Given the description of an element on the screen output the (x, y) to click on. 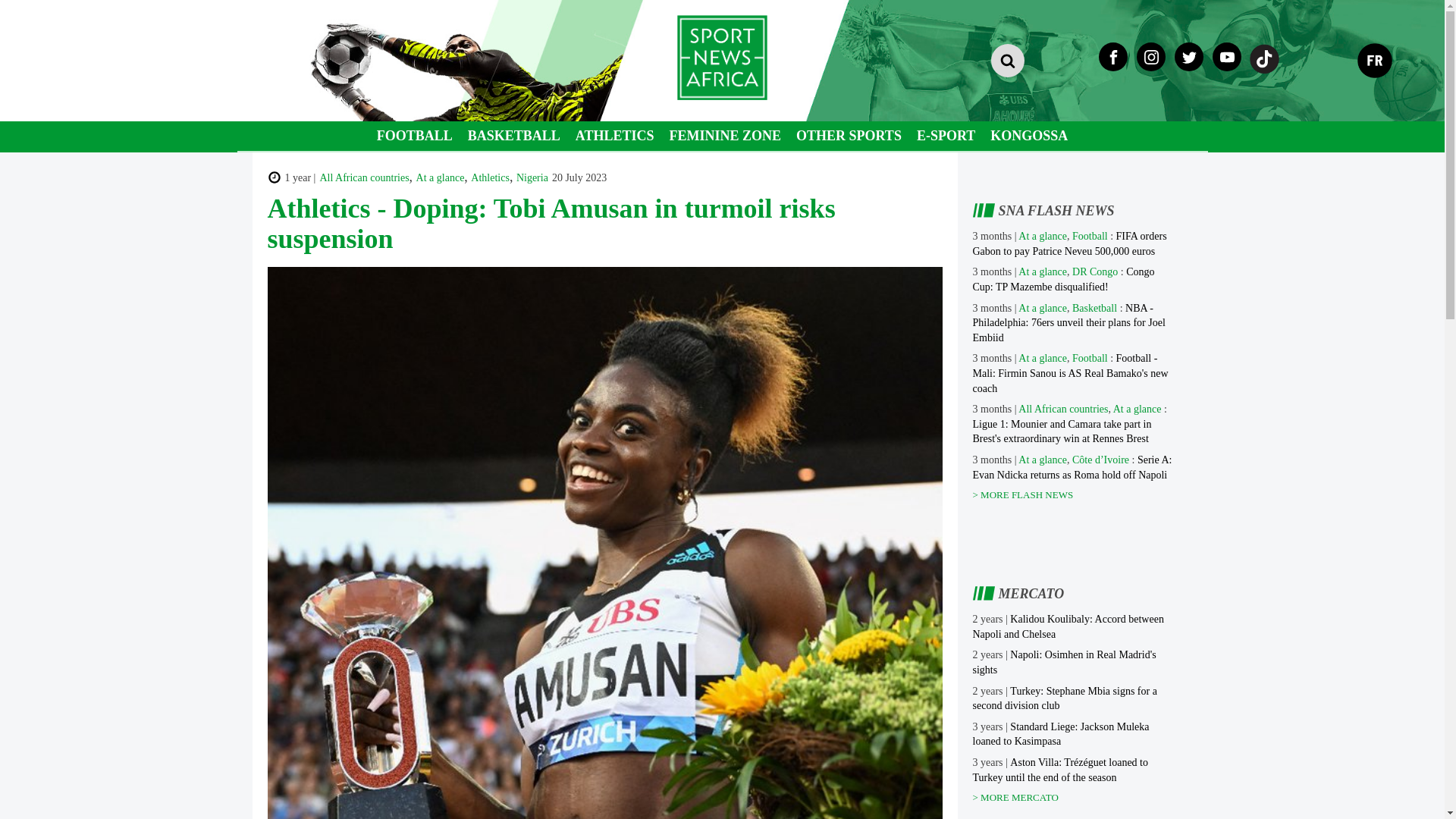
FIFA orders Gabon to pay Patrice Neveu 500,000 euros (1069, 243)
DR Congo (1094, 271)
Congo Cup: TP Mazembe disqualified! (1063, 279)
All African countries (363, 177)
Search (813, 137)
FEMININE ZONE (725, 135)
ATHLETICS (614, 135)
KONGOSSA (1028, 135)
FOOTBALL (414, 135)
At a glance (1042, 271)
